Given the description of an element on the screen output the (x, y) to click on. 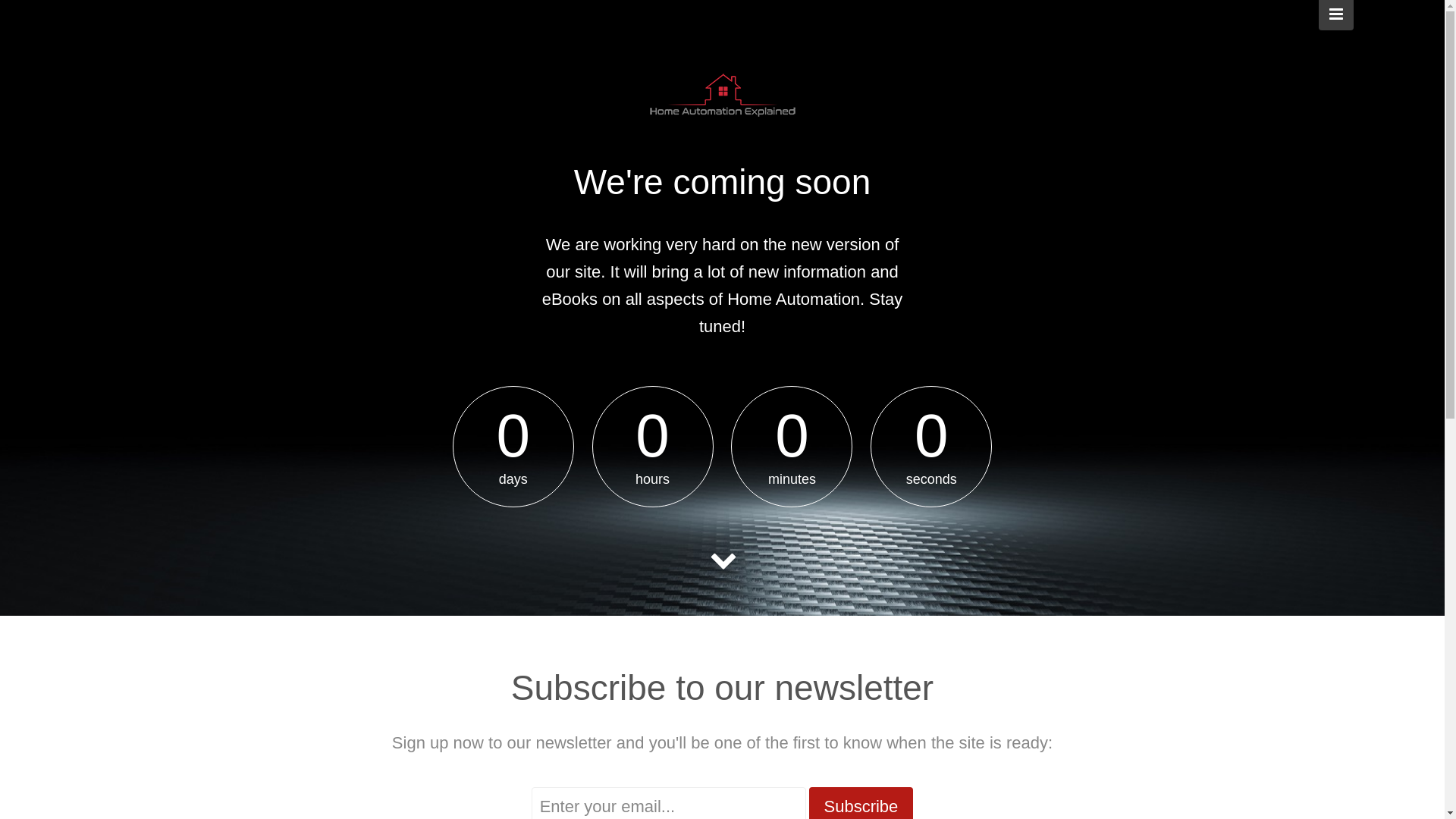
Home Automation Explained Element type: text (721, 98)
